Given the description of an element on the screen output the (x, y) to click on. 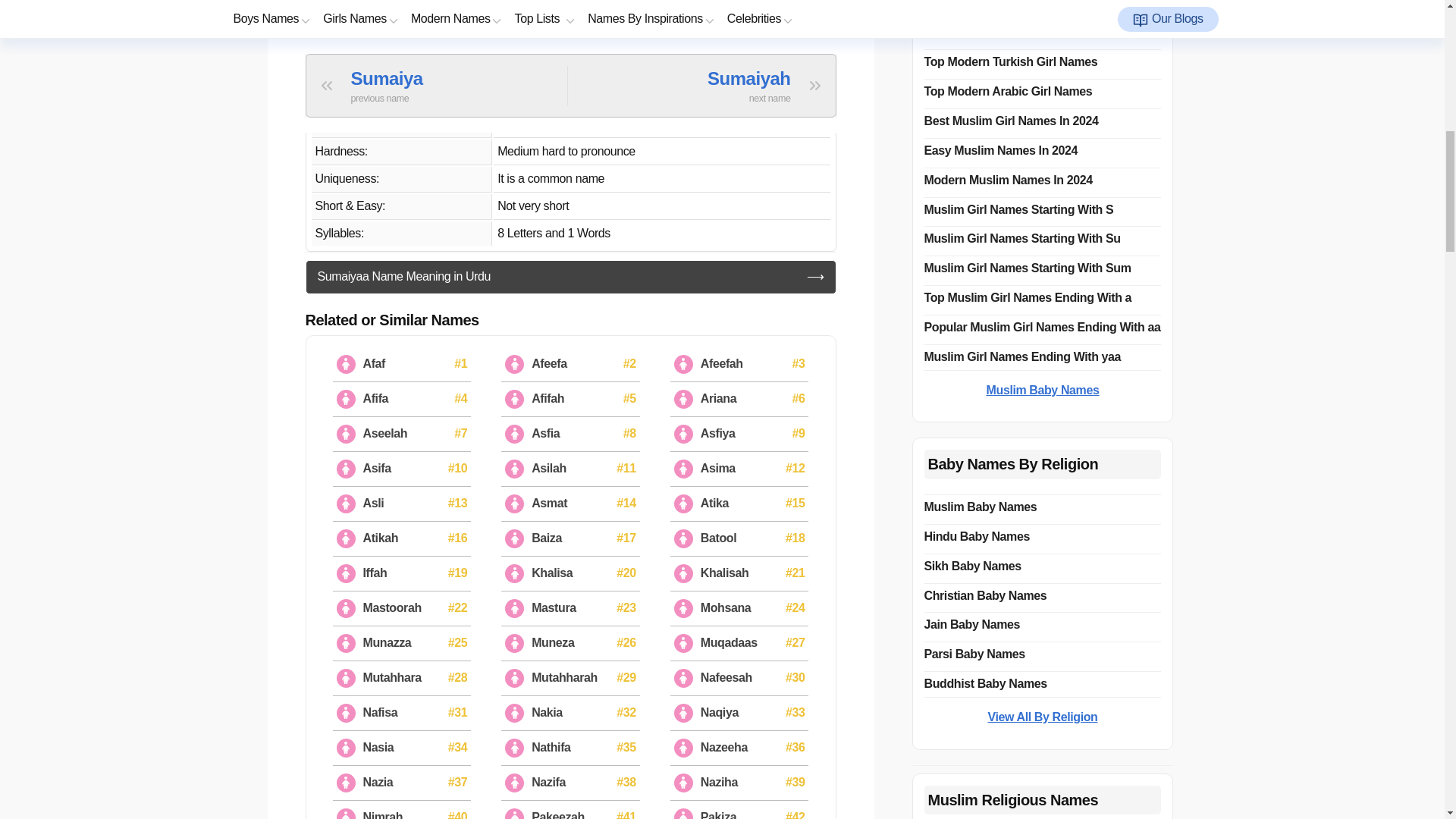
Arabic (513, 69)
pure (509, 15)
Muslim (515, 96)
chaste (545, 15)
